Given the description of an element on the screen output the (x, y) to click on. 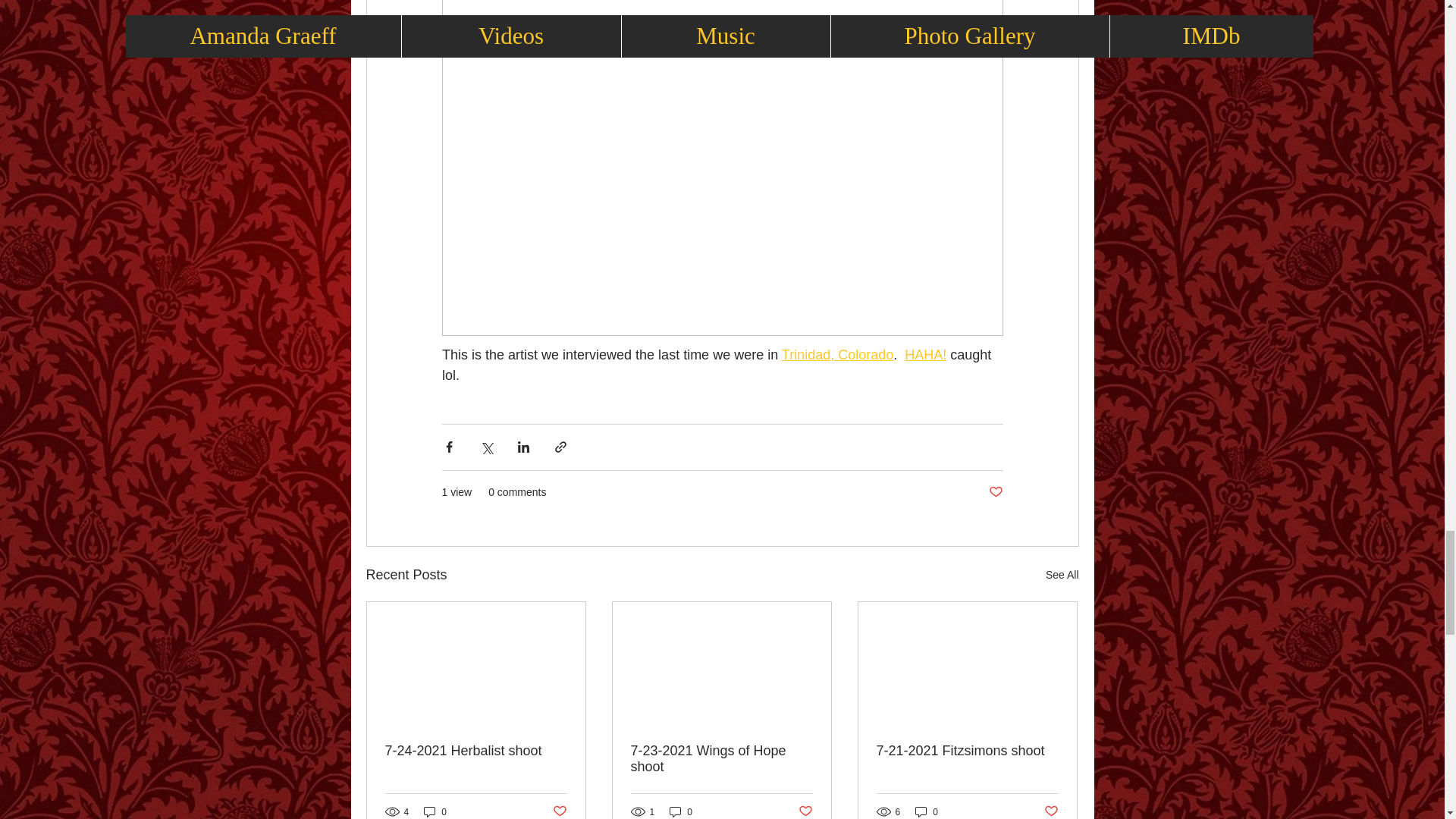
7-21-2021 Fitzsimons shoot (967, 750)
See All (1061, 575)
Post not marked as liked (995, 492)
0 (926, 811)
0 (681, 811)
HAHA! (925, 354)
Trinidad, Colorado (836, 354)
7-24-2021 Herbalist shoot (476, 750)
Post not marked as liked (1050, 811)
7-23-2021 Wings of Hope shoot (721, 758)
